Given the description of an element on the screen output the (x, y) to click on. 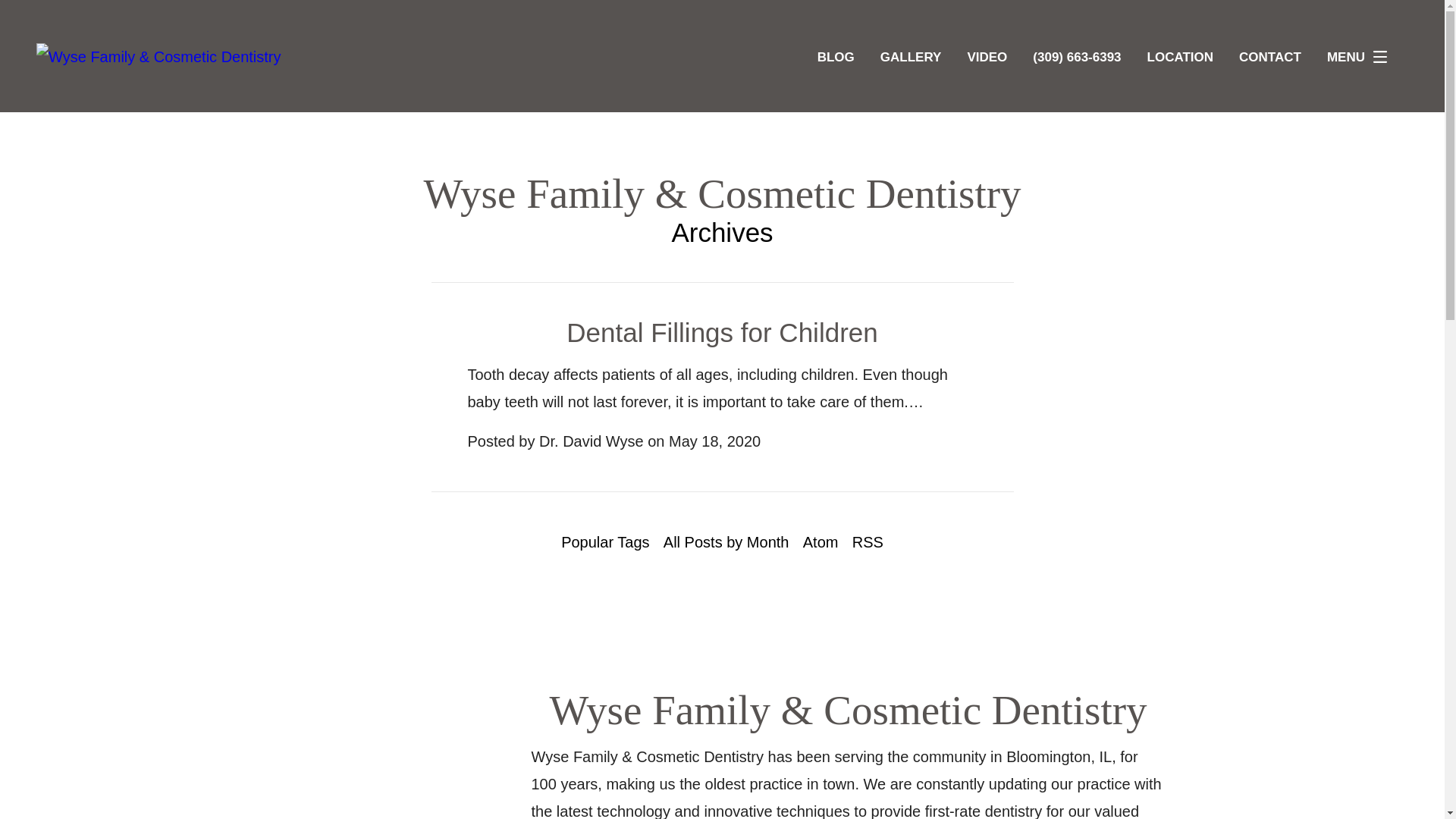
RSS (867, 541)
All Posts by Month (726, 541)
Atom (820, 541)
Popular Tags (605, 541)
